Given the description of an element on the screen output the (x, y) to click on. 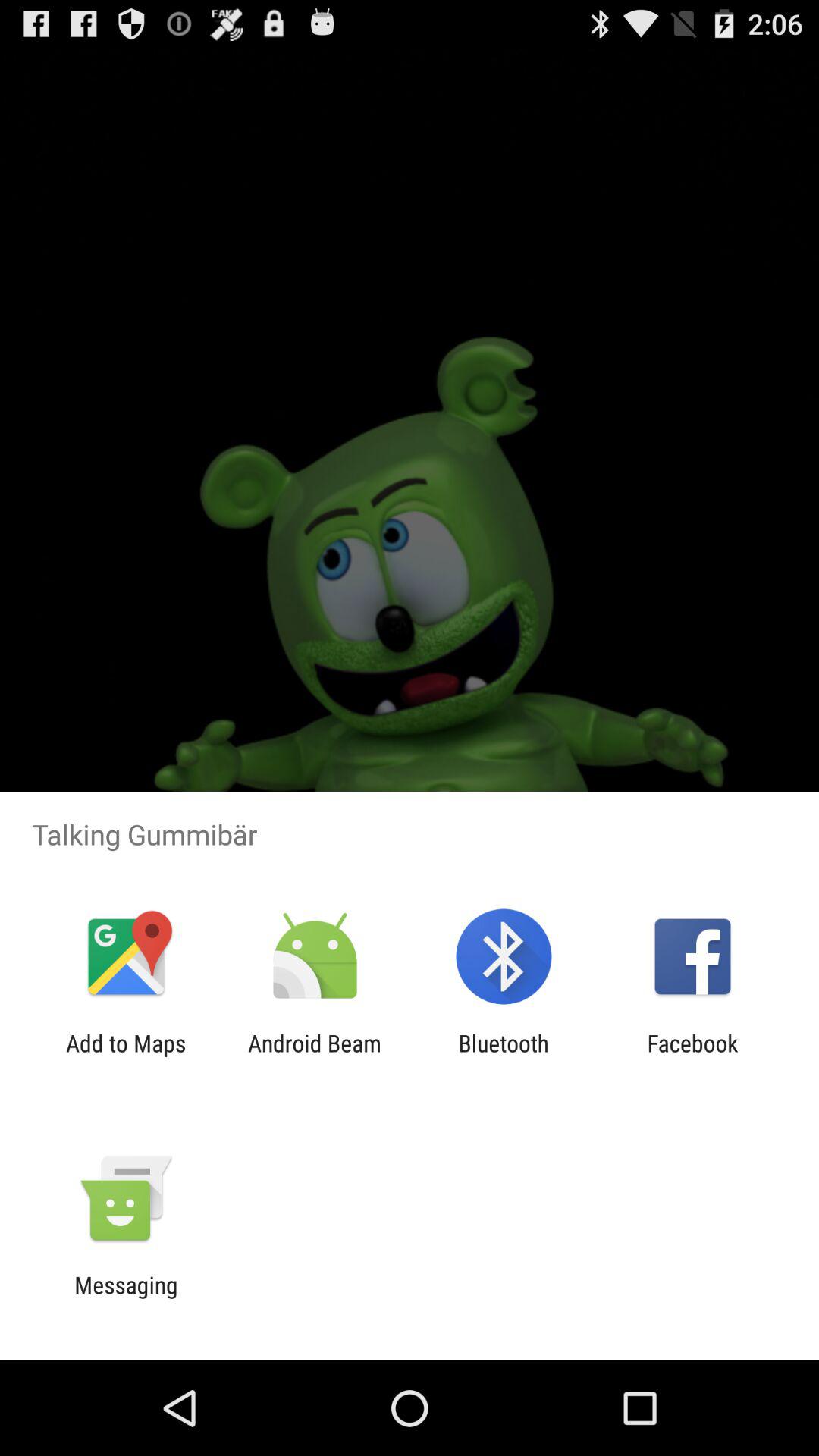
swipe until the android beam app (314, 1056)
